Given the description of an element on the screen output the (x, y) to click on. 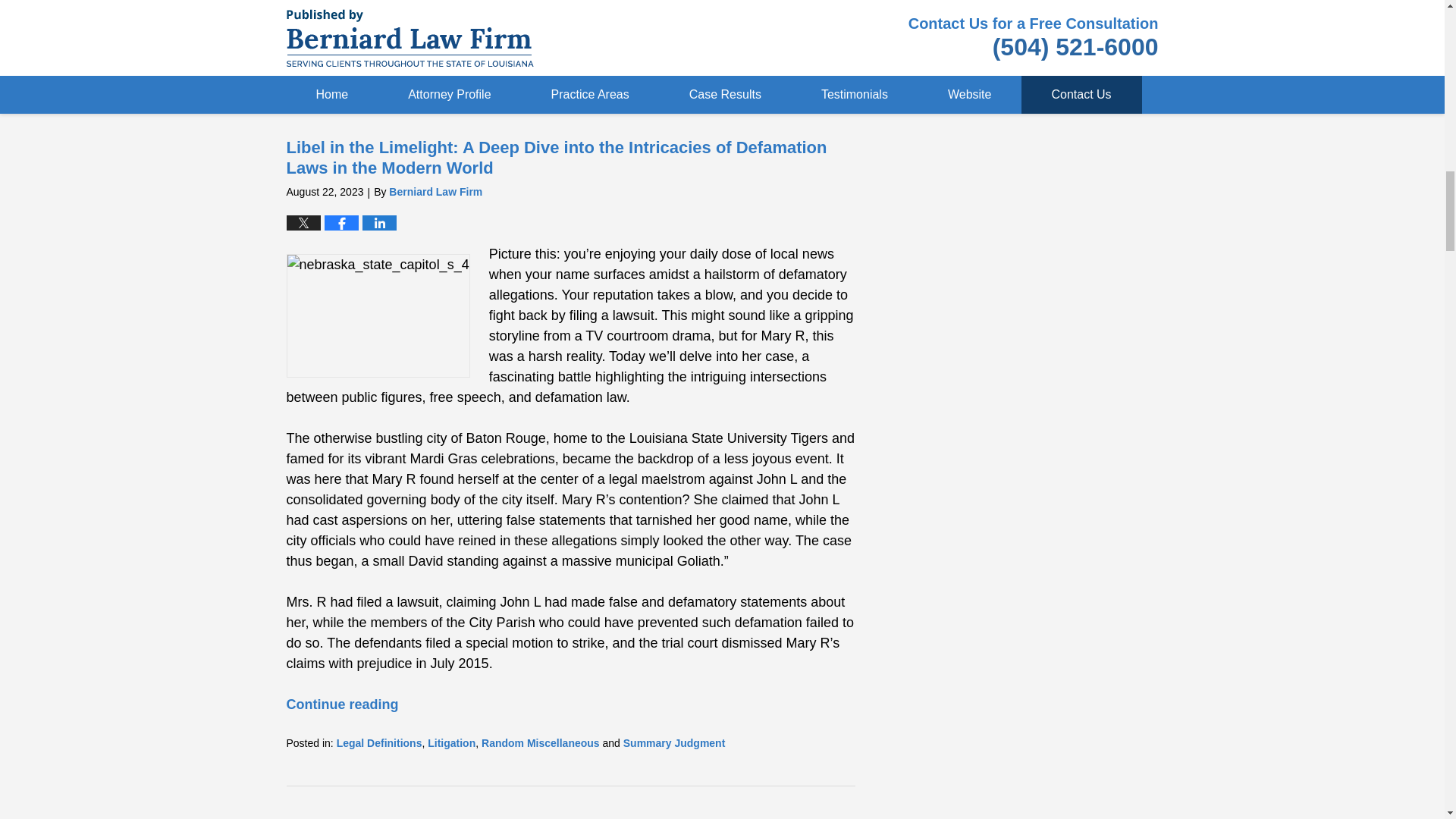
View all posts in Property Rights (520, 64)
View all posts in Litigation (452, 64)
Legal Definitions (379, 64)
Random Miscellaneous (644, 64)
View all posts in Litigation (452, 743)
View all posts in Legal Definitions (379, 743)
Property Rights (520, 64)
Litigation (452, 64)
View all posts in Legal Definitions (379, 64)
View all posts in Random Miscellaneous (540, 743)
Continue reading (342, 26)
View all posts in Random Miscellaneous (644, 64)
